Given the description of an element on the screen output the (x, y) to click on. 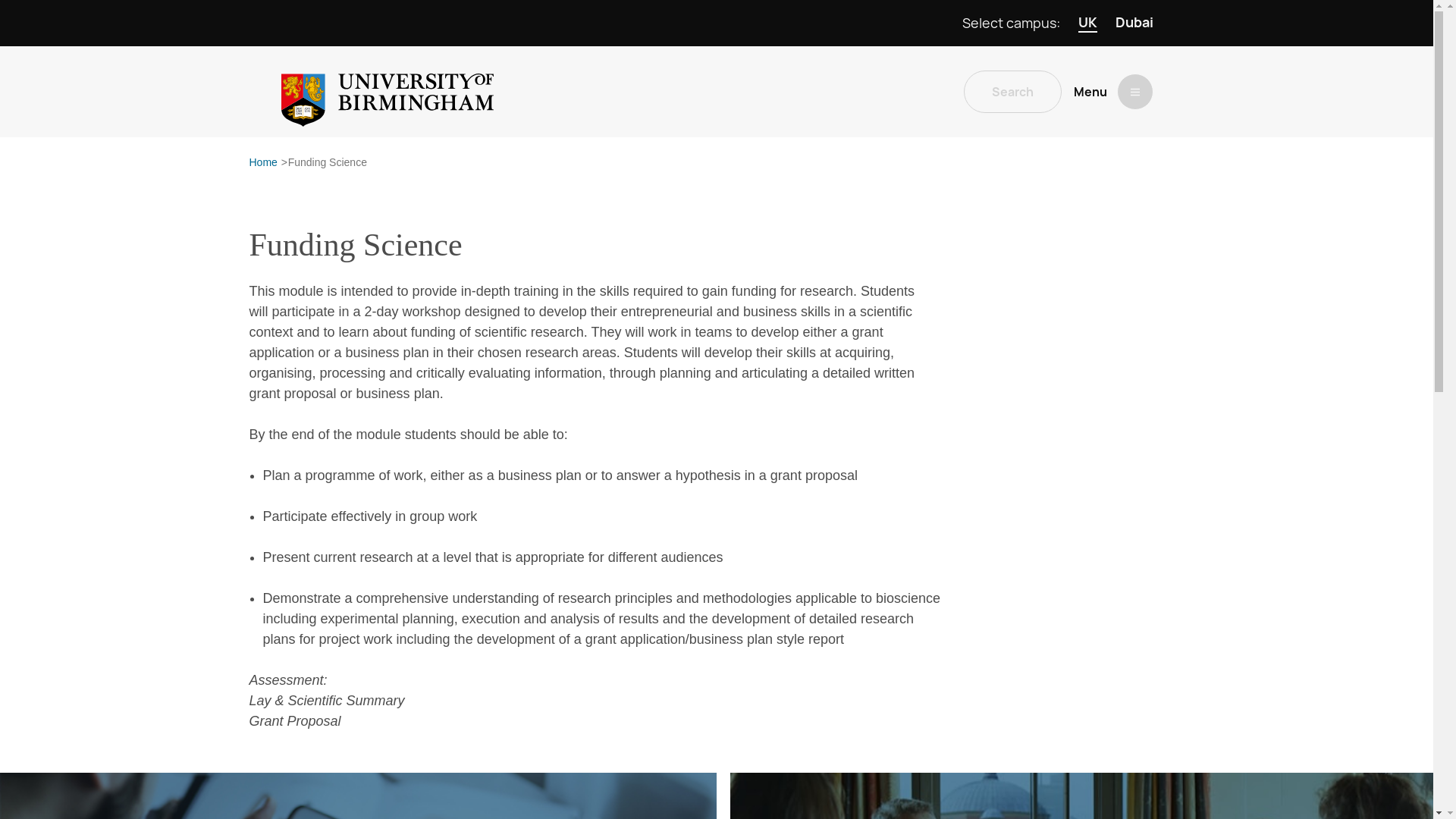
Funding Science (327, 162)
Dubai (1134, 23)
UK (1087, 23)
Home (262, 162)
Search (1012, 91)
